Given the description of an element on the screen output the (x, y) to click on. 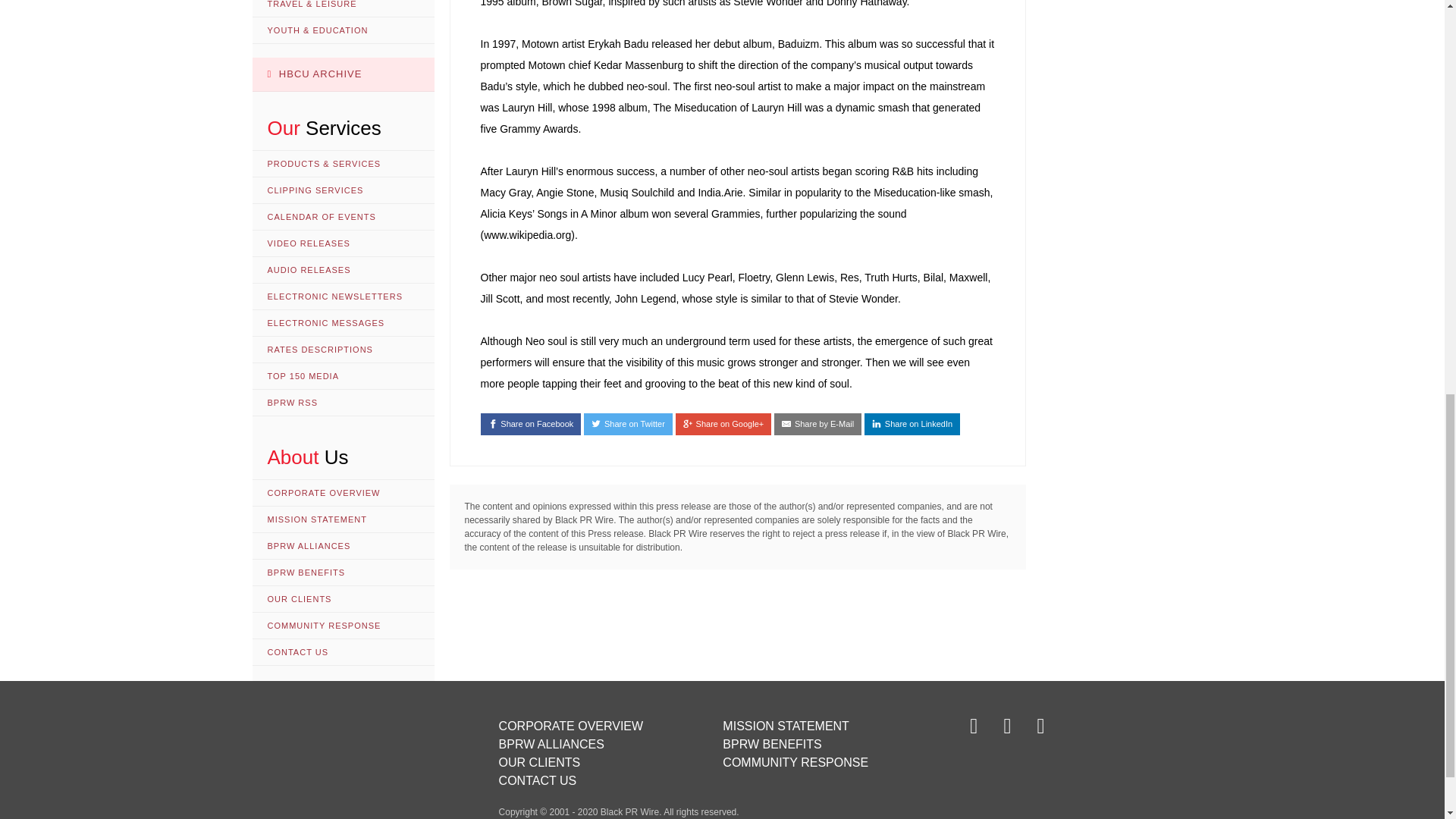
VIDEO RELEASES (342, 243)
HBCU ARCHIVE (342, 74)
CALENDAR OF EVENTS (342, 216)
AUDIO RELEASES (342, 270)
CLIPPING SERVICES (342, 190)
